Given the description of an element on the screen output the (x, y) to click on. 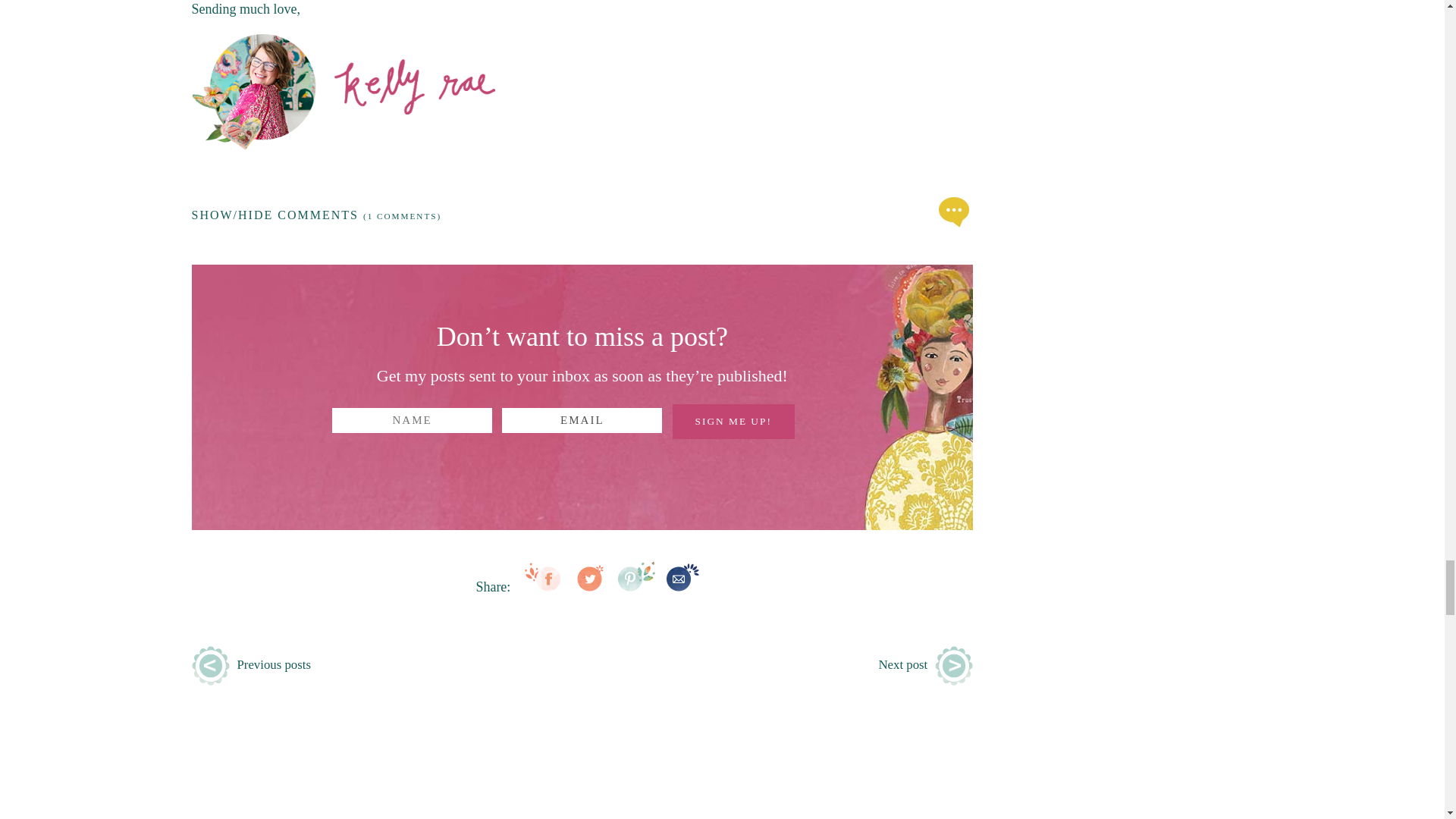
Next post (902, 665)
Previous posts (272, 665)
Tweet this! (589, 587)
SIGN ME UP! (733, 421)
SIGN ME UP! (733, 421)
Email (582, 420)
Share on Facebook. (545, 587)
